Given the description of an element on the screen output the (x, y) to click on. 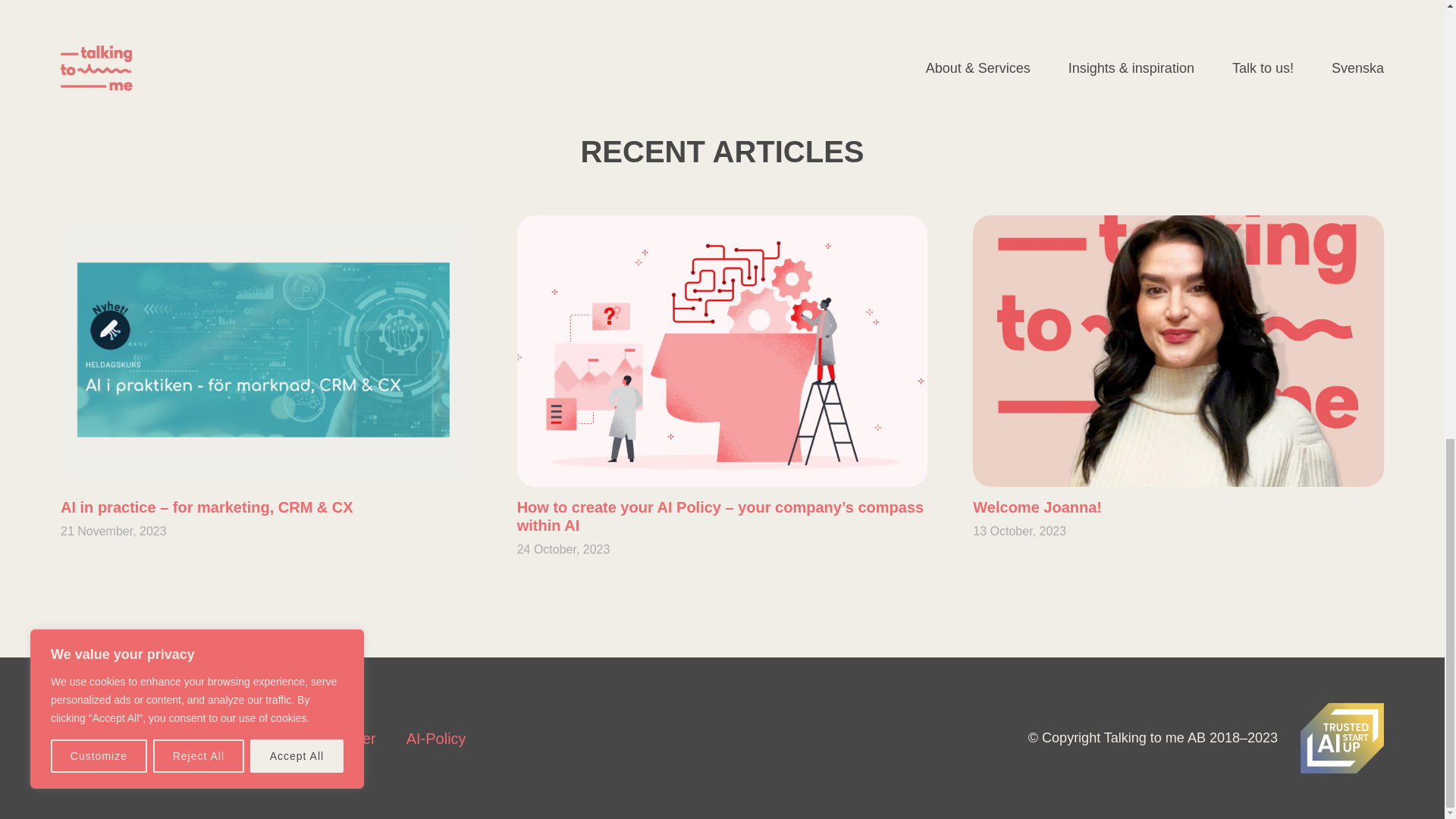
here (702, 18)
